Given the description of an element on the screen output the (x, y) to click on. 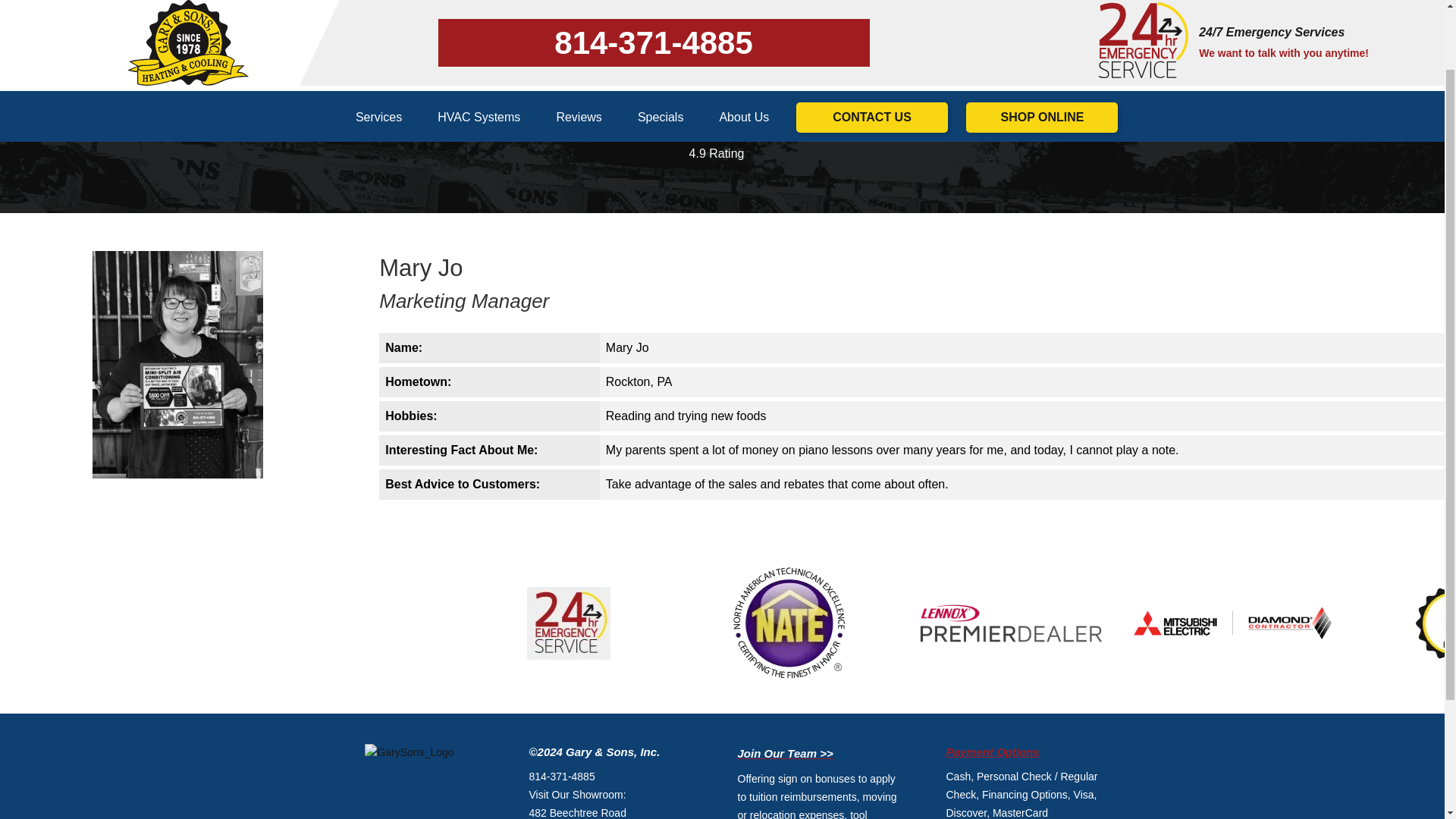
Reviews (578, 39)
HVAC Systems (479, 39)
Services (378, 39)
